Given the description of an element on the screen output the (x, y) to click on. 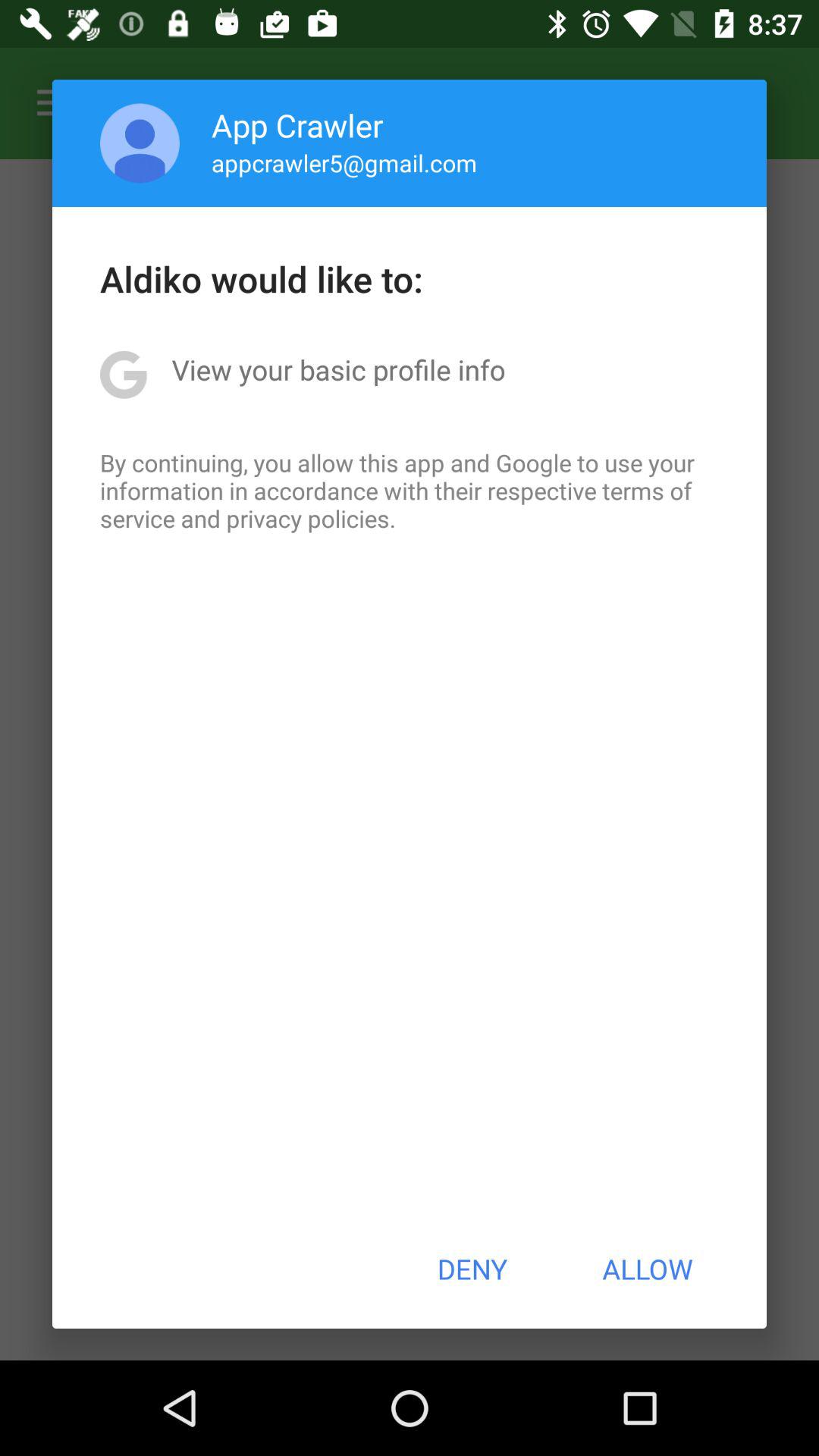
launch app crawler app (297, 124)
